Given the description of an element on the screen output the (x, y) to click on. 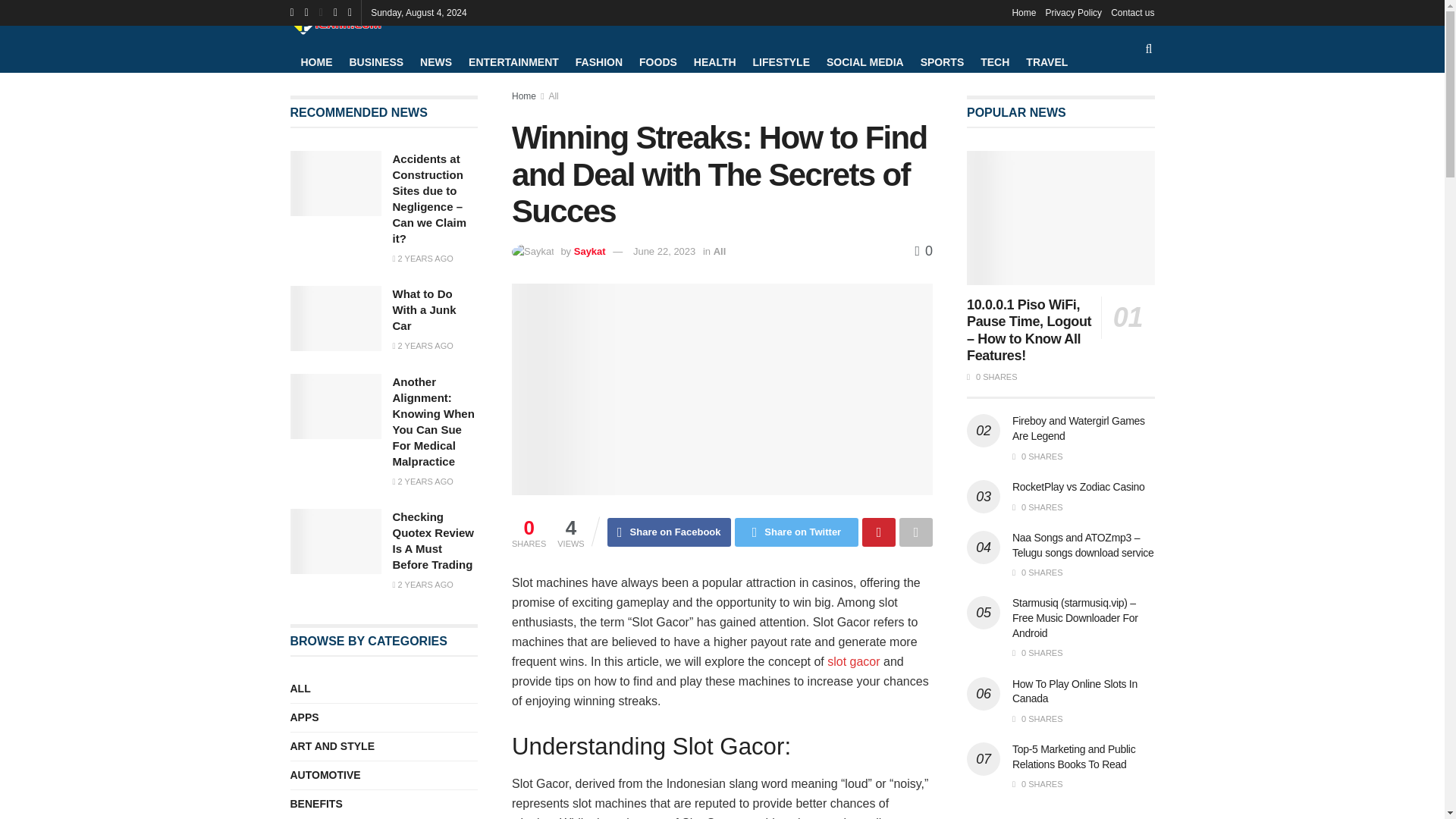
Home (1023, 12)
SPORTS (941, 61)
Share on Twitter (797, 532)
Saykat (589, 251)
SOCIAL MEDIA (865, 61)
HOME (315, 61)
FOODS (658, 61)
NEWS (435, 61)
ENTERTAINMENT (513, 61)
TECH (994, 61)
slot gacor (853, 661)
Privacy Policy (1073, 12)
FASHION (599, 61)
All (552, 95)
BUSINESS (376, 61)
